Given the description of an element on the screen output the (x, y) to click on. 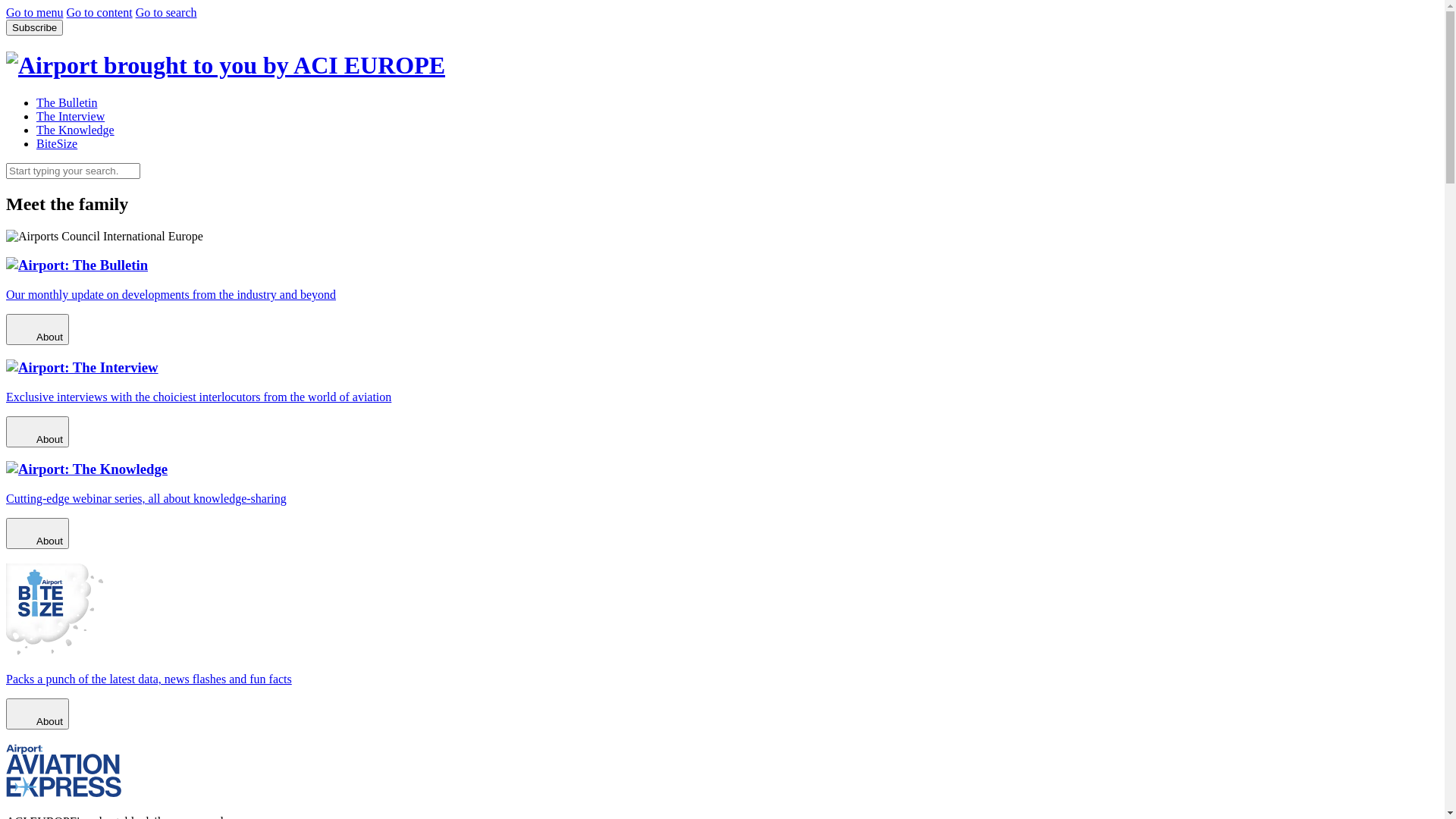
Subscribe Element type: text (34, 27)
About Element type: text (37, 431)
The Interview Element type: text (70, 115)
About Element type: text (37, 713)
About Element type: text (37, 329)
The Knowledge Element type: text (75, 129)
Go to search Element type: text (166, 12)
The Bulletin Element type: text (66, 102)
Search Element type: text (139, 162)
Go to menu Element type: text (34, 12)
Go to content Element type: text (99, 12)
BiteSize Element type: text (56, 143)
About Element type: text (37, 533)
